Given the description of an element on the screen output the (x, y) to click on. 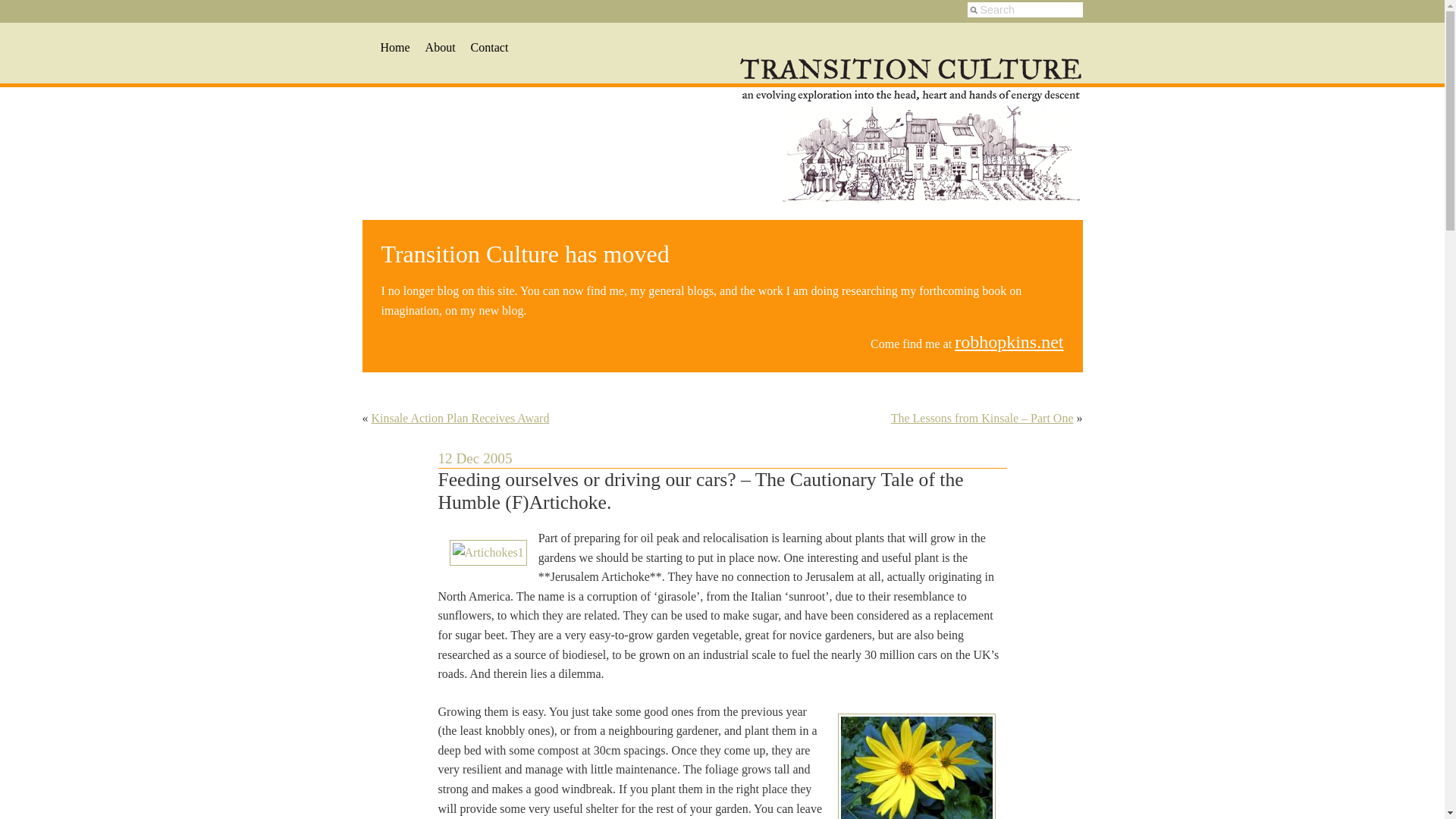
Arti2 (915, 766)
Contact the Author (489, 47)
Home (395, 47)
Transition Culture Home Page (395, 47)
Contact (489, 47)
Kinsale Action Plan Receives Award (460, 418)
robhopkins.net (1008, 342)
enter your search phrase then press Enter (1025, 9)
About (440, 47)
Search (1025, 9)
About the Author (440, 47)
Artichokes1 (486, 552)
